Given the description of an element on the screen output the (x, y) to click on. 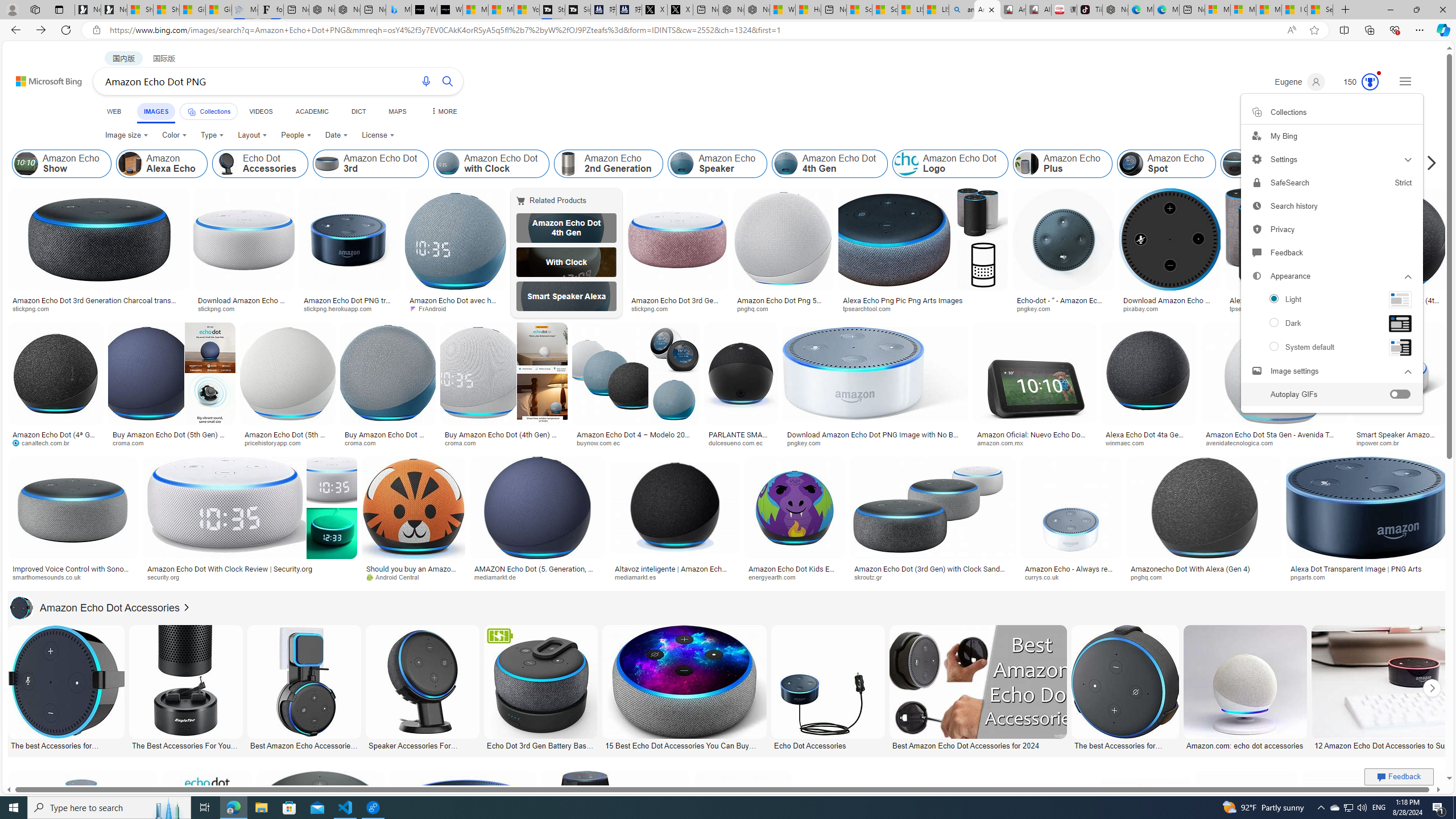
tpsearchtool.com (1257, 308)
Settings and quick links (1404, 80)
avenidatecnologica.com (1243, 442)
Class: medal-svg-animation (1369, 81)
Nordace - #1 Japanese Best-Seller - Siena Smart Backpack (347, 9)
Alexa Echo Png Pic Png Arts Imagestpsearchtool.comSave (924, 252)
Alexa Echo Png Pic Png Arts Images (1282, 303)
Alexa Dot Transparent Image | PNG Arts (1356, 568)
pnghq.com (1150, 576)
